Given the description of an element on the screen output the (x, y) to click on. 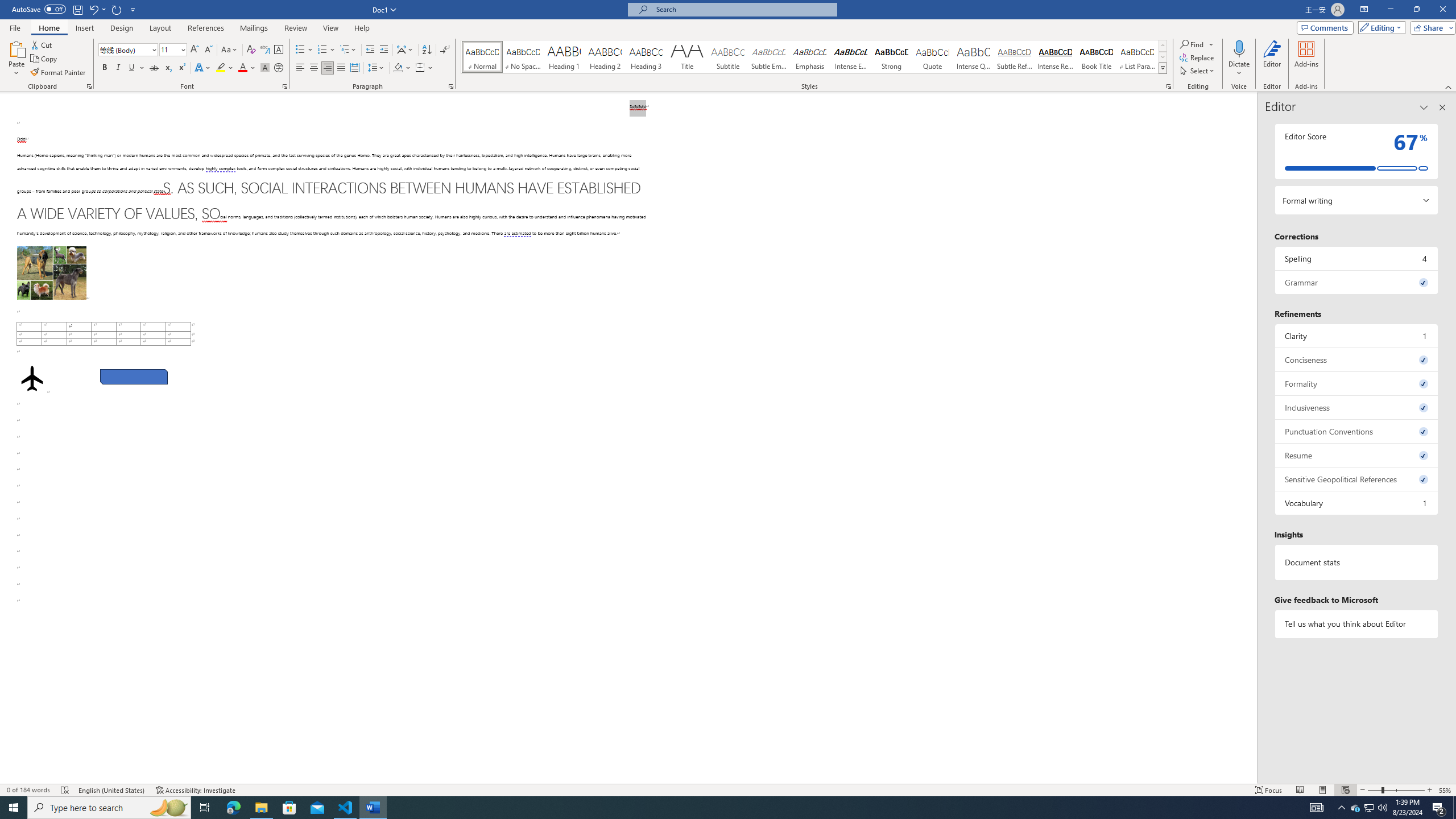
Justify (340, 67)
Font Color Red (241, 67)
Editor Score 67% (1356, 151)
Styles... (1168, 85)
Increase Indent (383, 49)
Word Count 0 of 184 words (28, 790)
Character Shading (264, 67)
Intense Emphasis (849, 56)
